Given the description of an element on the screen output the (x, y) to click on. 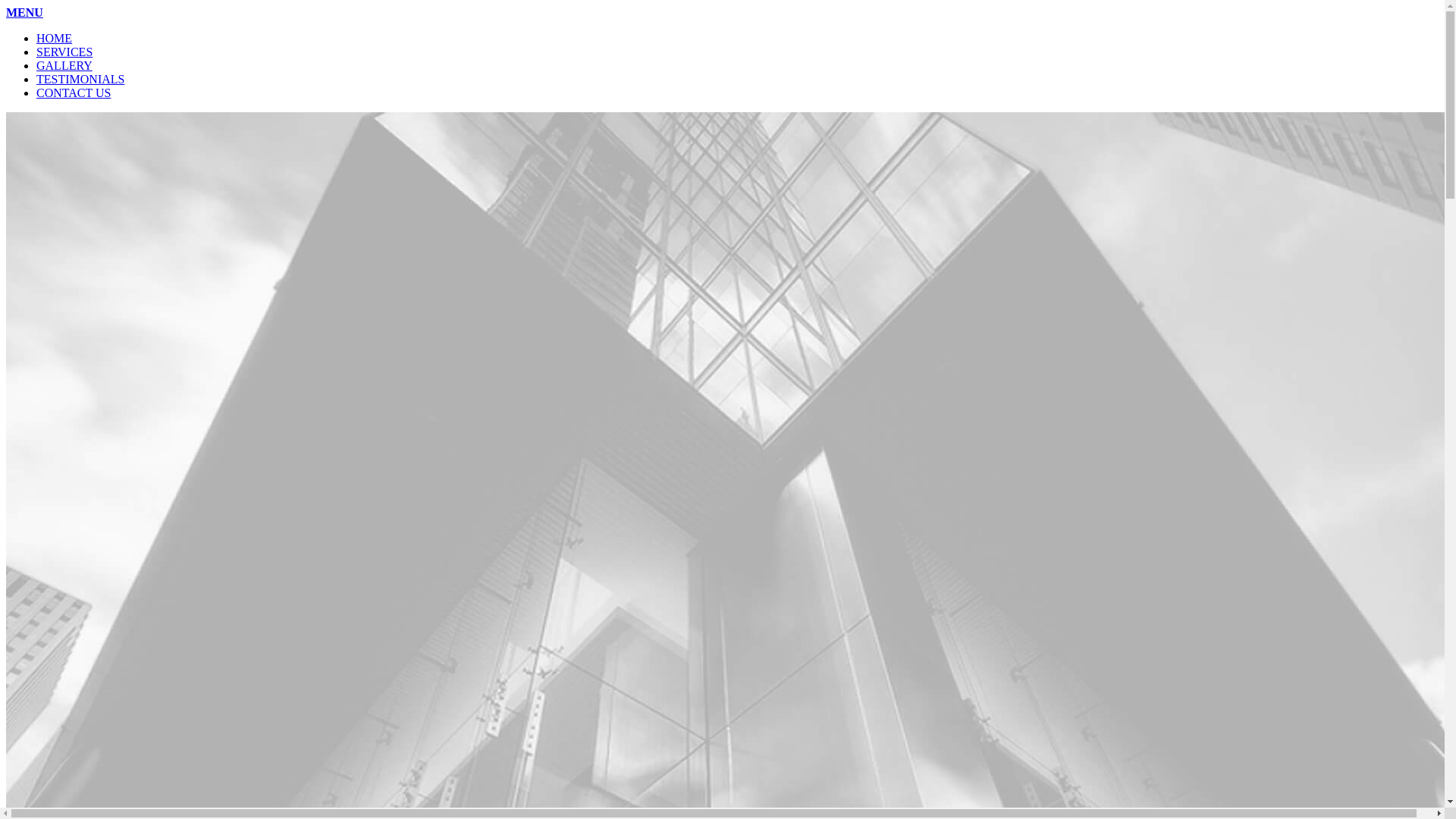
CONTACT US Element type: text (73, 92)
GALLERY Element type: text (64, 65)
HOME Element type: text (54, 37)
MENU Element type: text (24, 12)
TESTIMONIALS Element type: text (80, 78)
SERVICES Element type: text (64, 51)
